Given the description of an element on the screen output the (x, y) to click on. 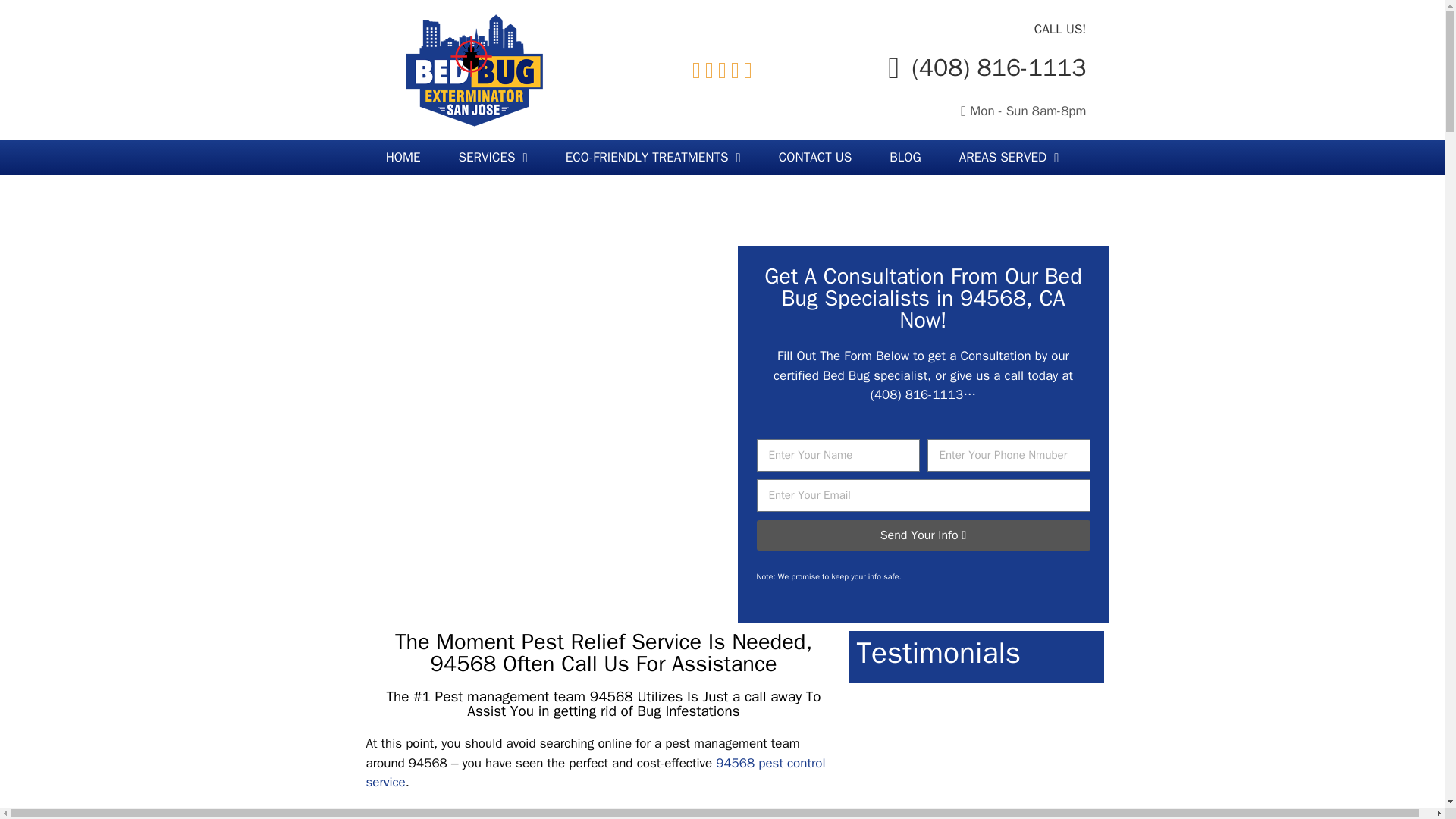
HOME (402, 157)
AREAS SERVED (1009, 157)
CONTACT US (815, 157)
ECO-FRIENDLY TREATMENTS (653, 157)
BLOG (904, 157)
SERVICES (493, 157)
